Given the description of an element on the screen output the (x, y) to click on. 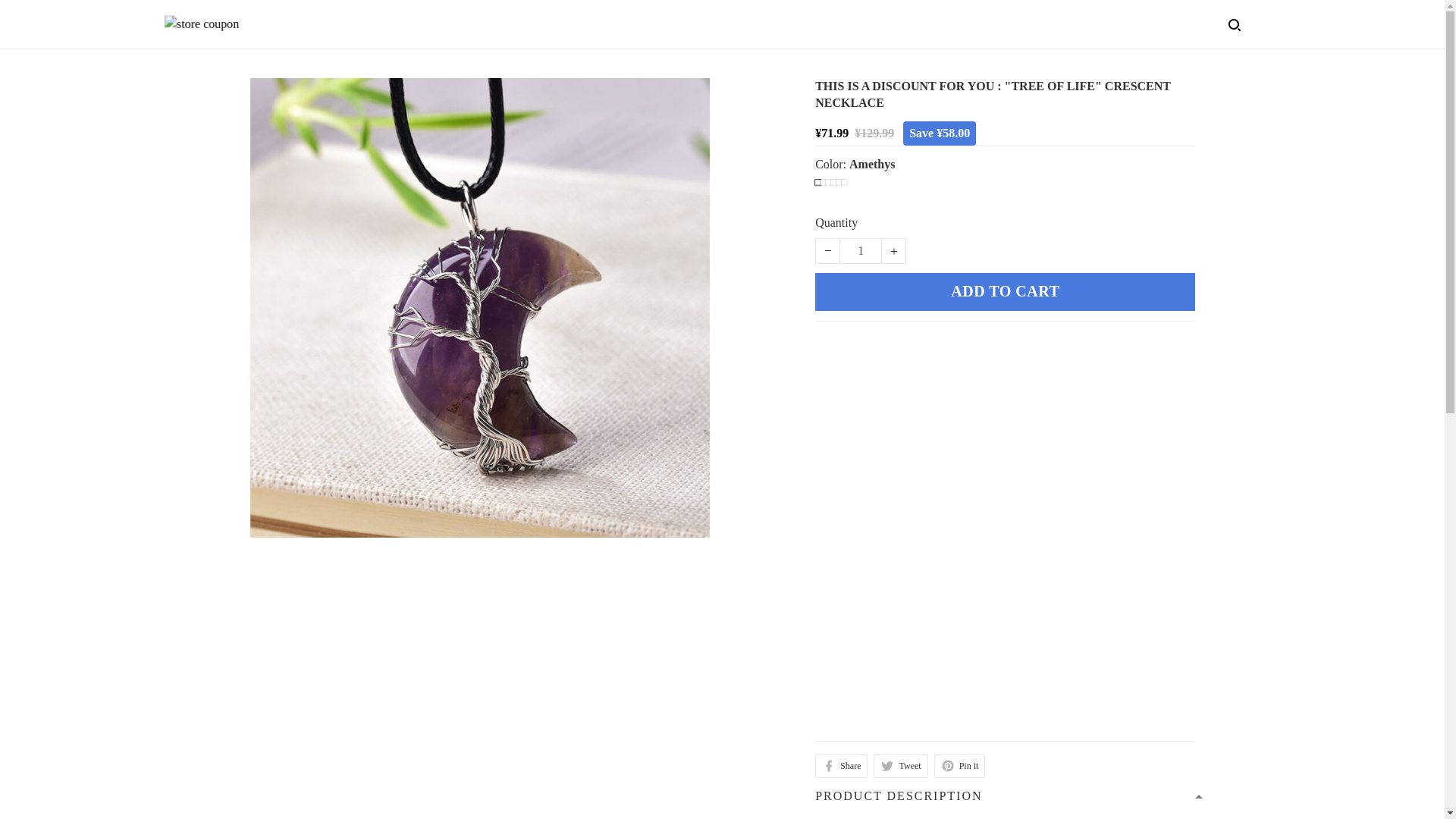
Share on Facebook (841, 765)
Share on Twitter (900, 765)
Pin on Pinterest (959, 765)
Pin it (959, 765)
ADD TO CART (1005, 291)
Share (841, 765)
Tweet (900, 765)
1 (860, 250)
